Given the description of an element on the screen output the (x, y) to click on. 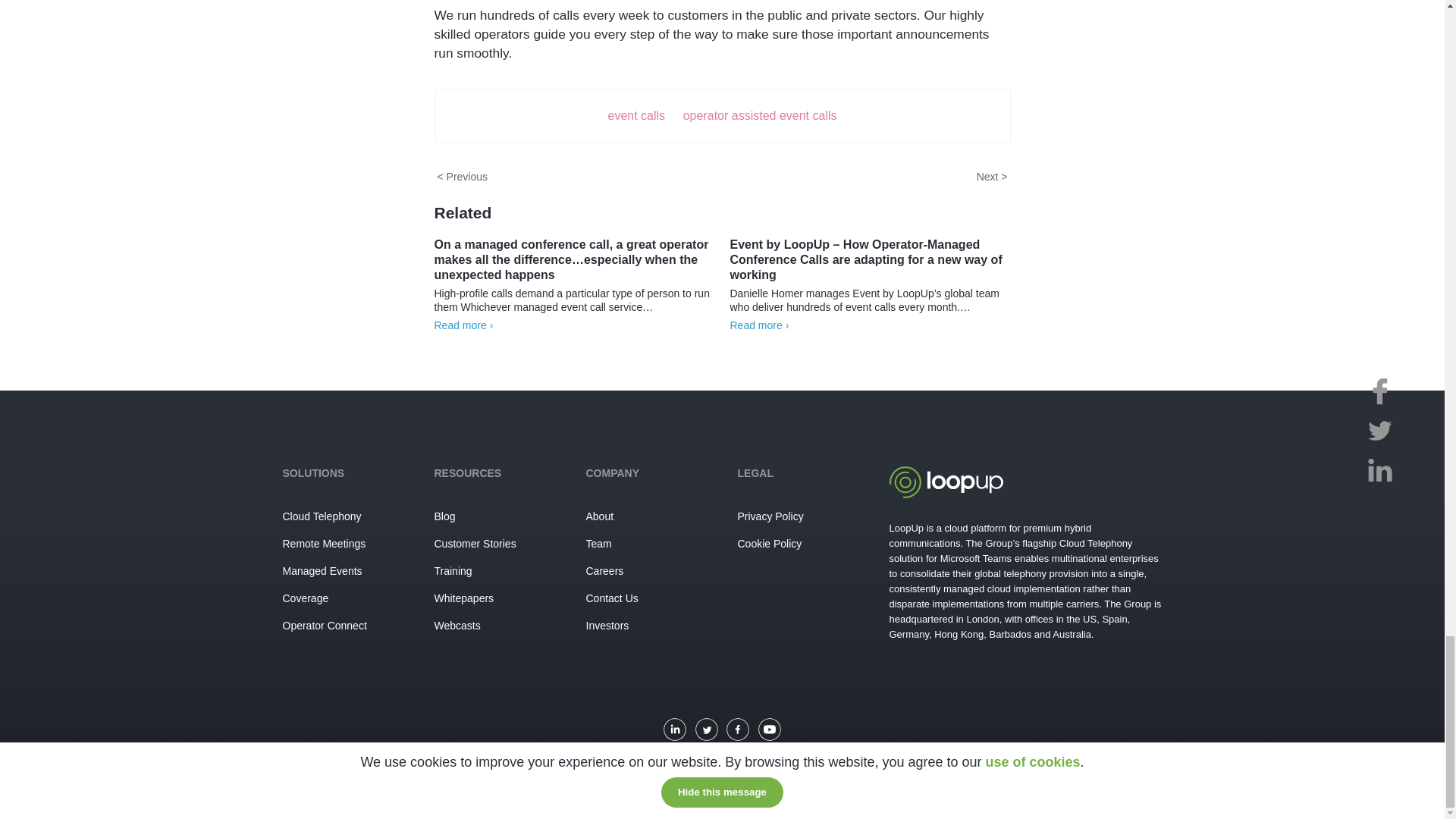
LoopUp.com (945, 492)
